Given the description of an element on the screen output the (x, y) to click on. 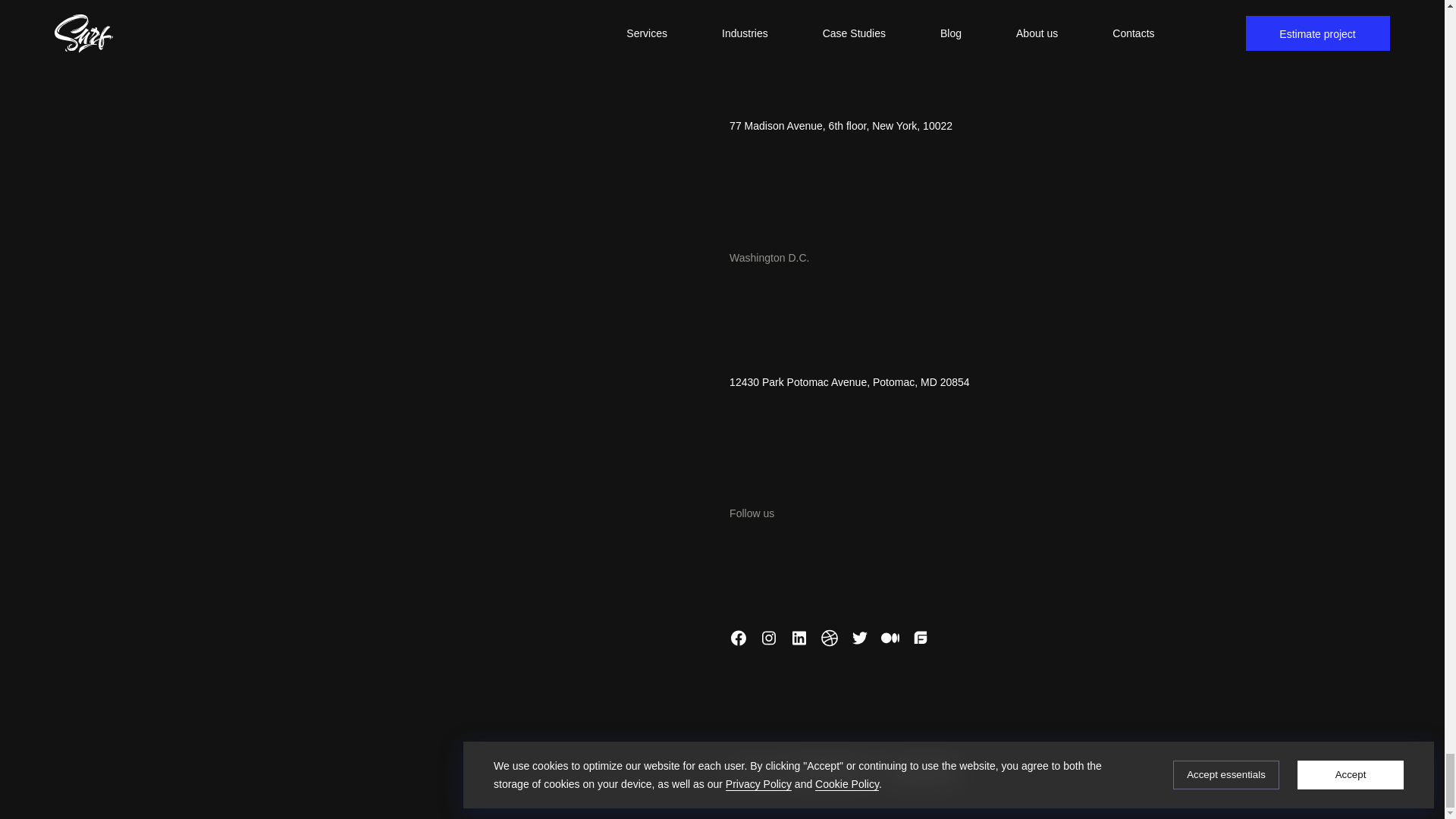
medium (889, 643)
linkedin (799, 643)
dribbble (829, 643)
goodfirms (920, 643)
facebook (738, 643)
instagram (768, 643)
twitter (859, 643)
